Given the description of an element on the screen output the (x, y) to click on. 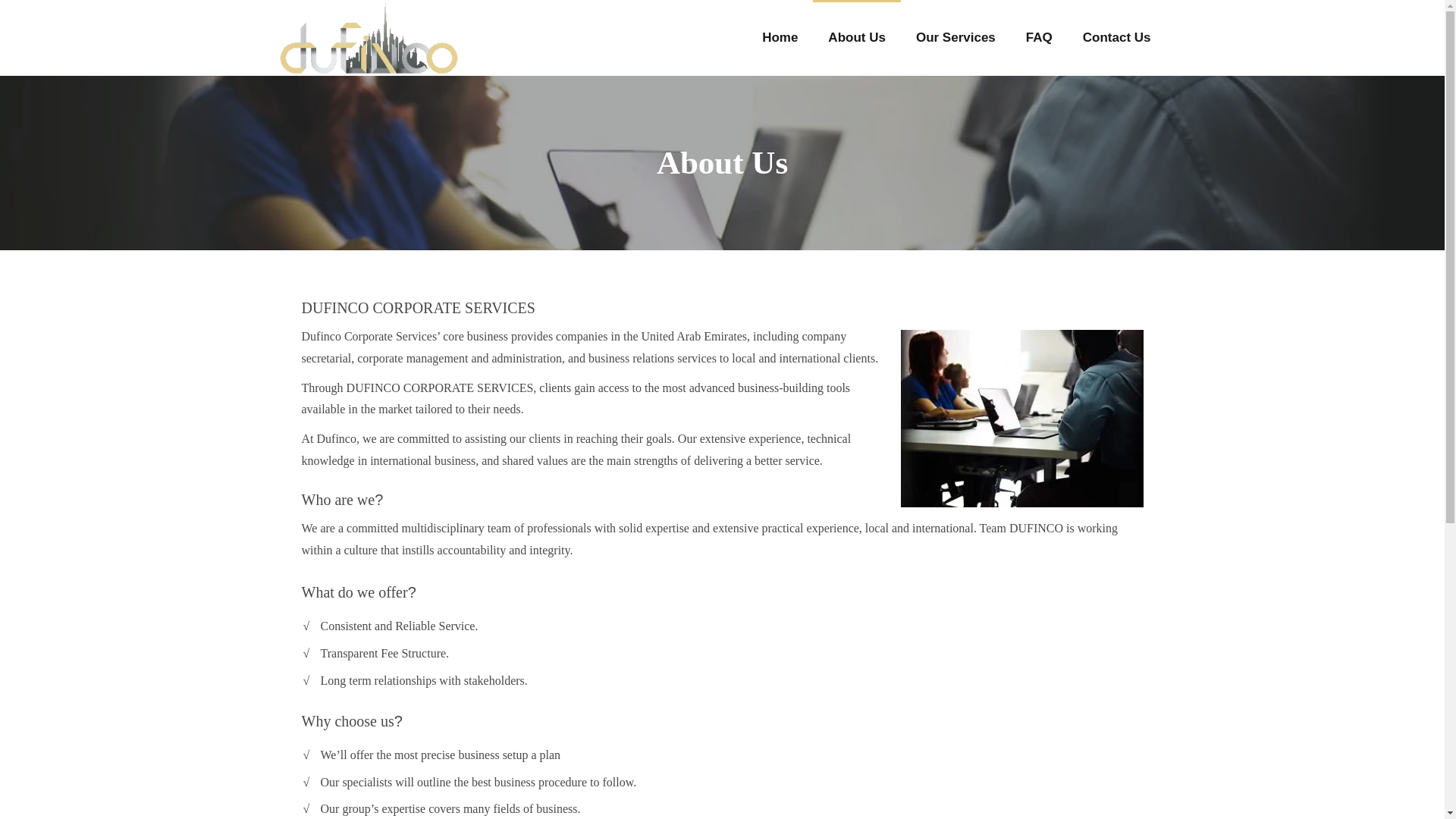
About Us (856, 38)
About Us (856, 38)
Our Services (955, 38)
Contact Us (1116, 38)
Our Services (955, 38)
Contact Us (1116, 38)
